Given the description of an element on the screen output the (x, y) to click on. 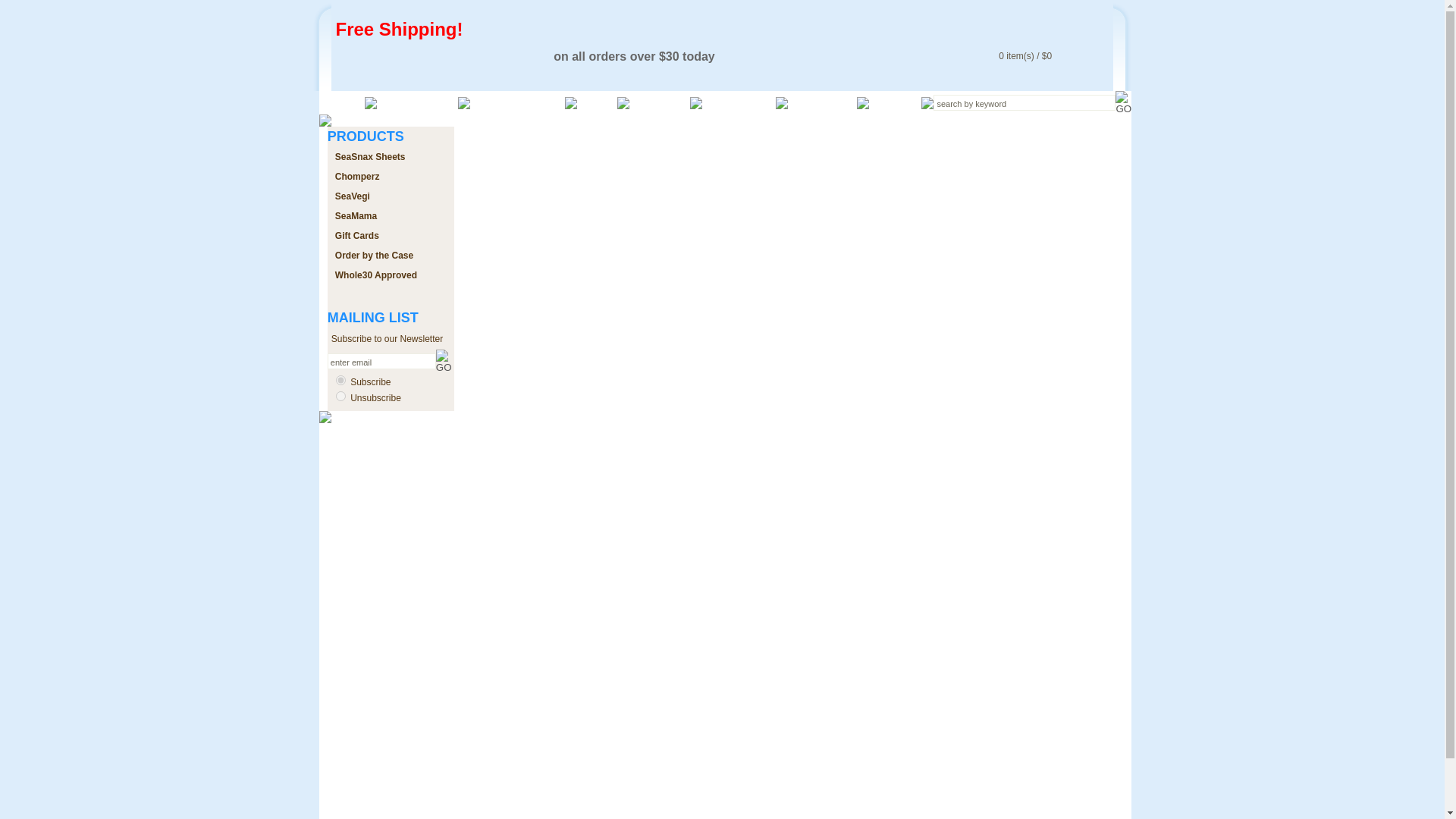
Chomperz (357, 176)
search by keyword (1024, 102)
SeaSnax Sheets (370, 156)
Where to Buy (416, 102)
My Account (739, 102)
Home (342, 102)
About Us (660, 102)
Contact Us (821, 102)
SeaMama (355, 215)
What People Say (517, 102)
